Given the description of an element on the screen output the (x, y) to click on. 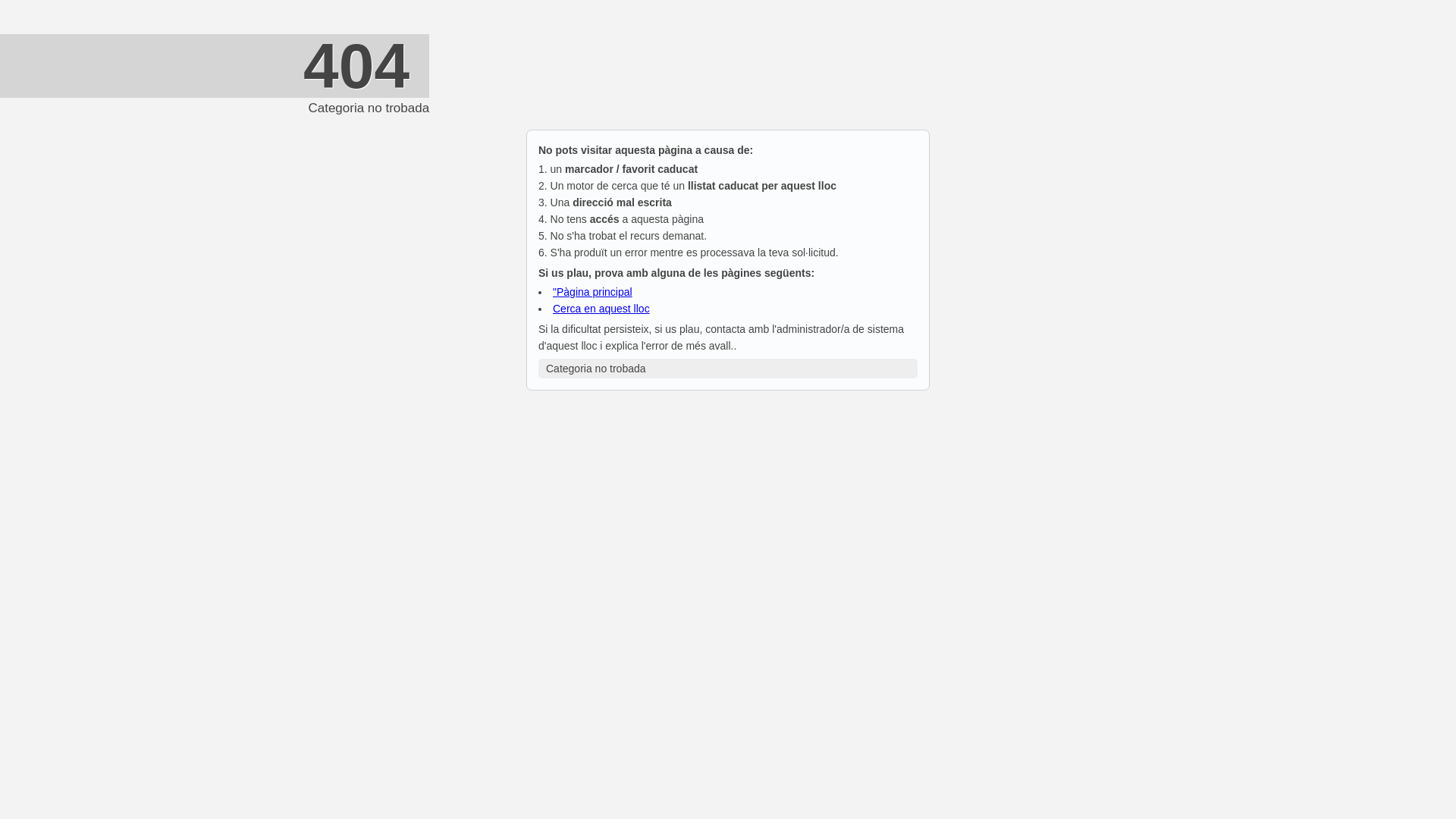
Cerca en aquest lloc Element type: text (600, 308)
